Given the description of an element on the screen output the (x, y) to click on. 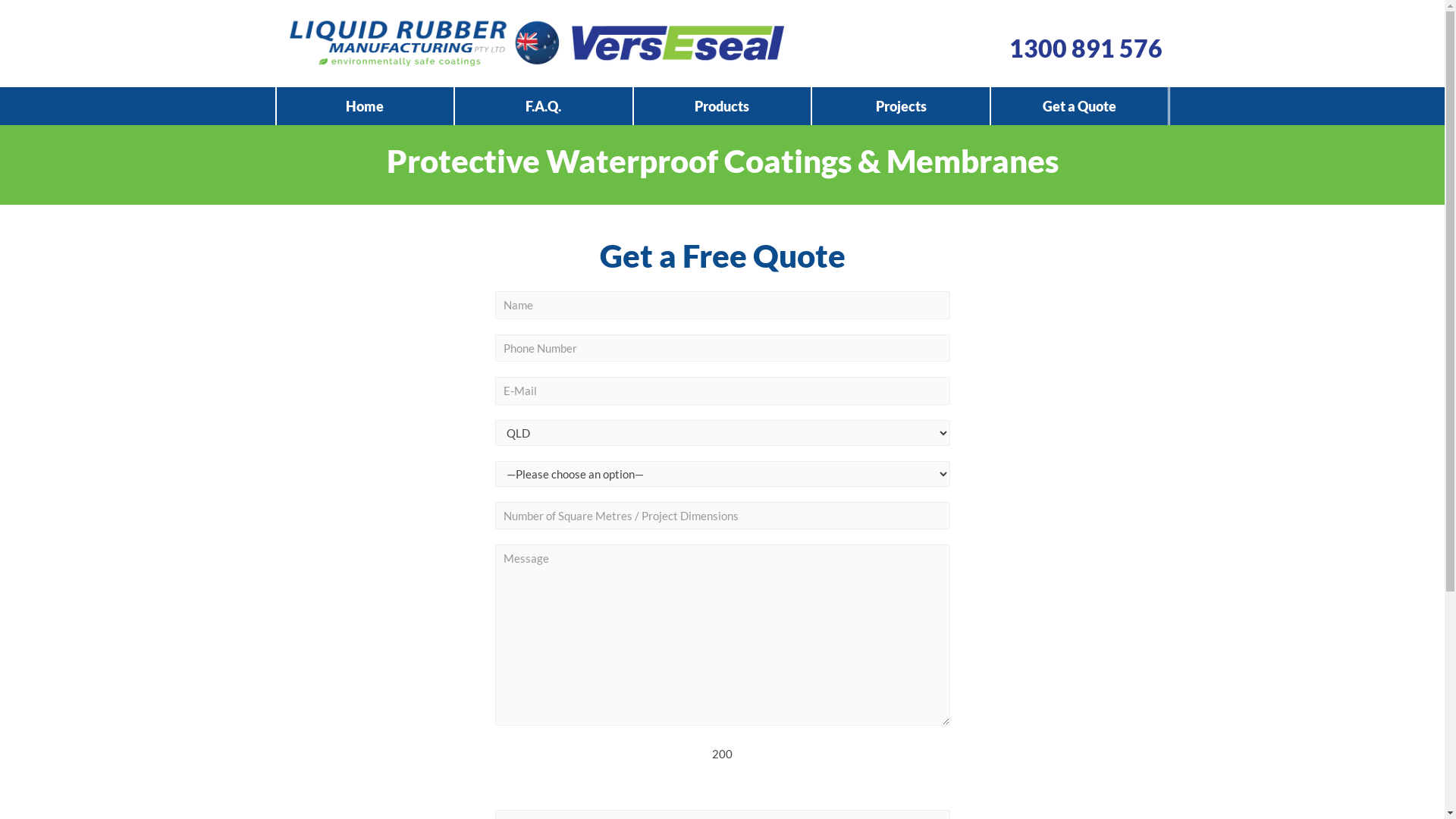
Get a Quote Element type: text (1079, 106)
F.A.Q. Element type: text (543, 106)
Liquid Rubber Manufacturing Element type: hover (533, 43)
1300 891 576 Element type: text (1084, 47)
Home Element type: text (364, 106)
Projects Element type: text (900, 106)
Products Element type: text (722, 106)
